Given the description of an element on the screen output the (x, y) to click on. 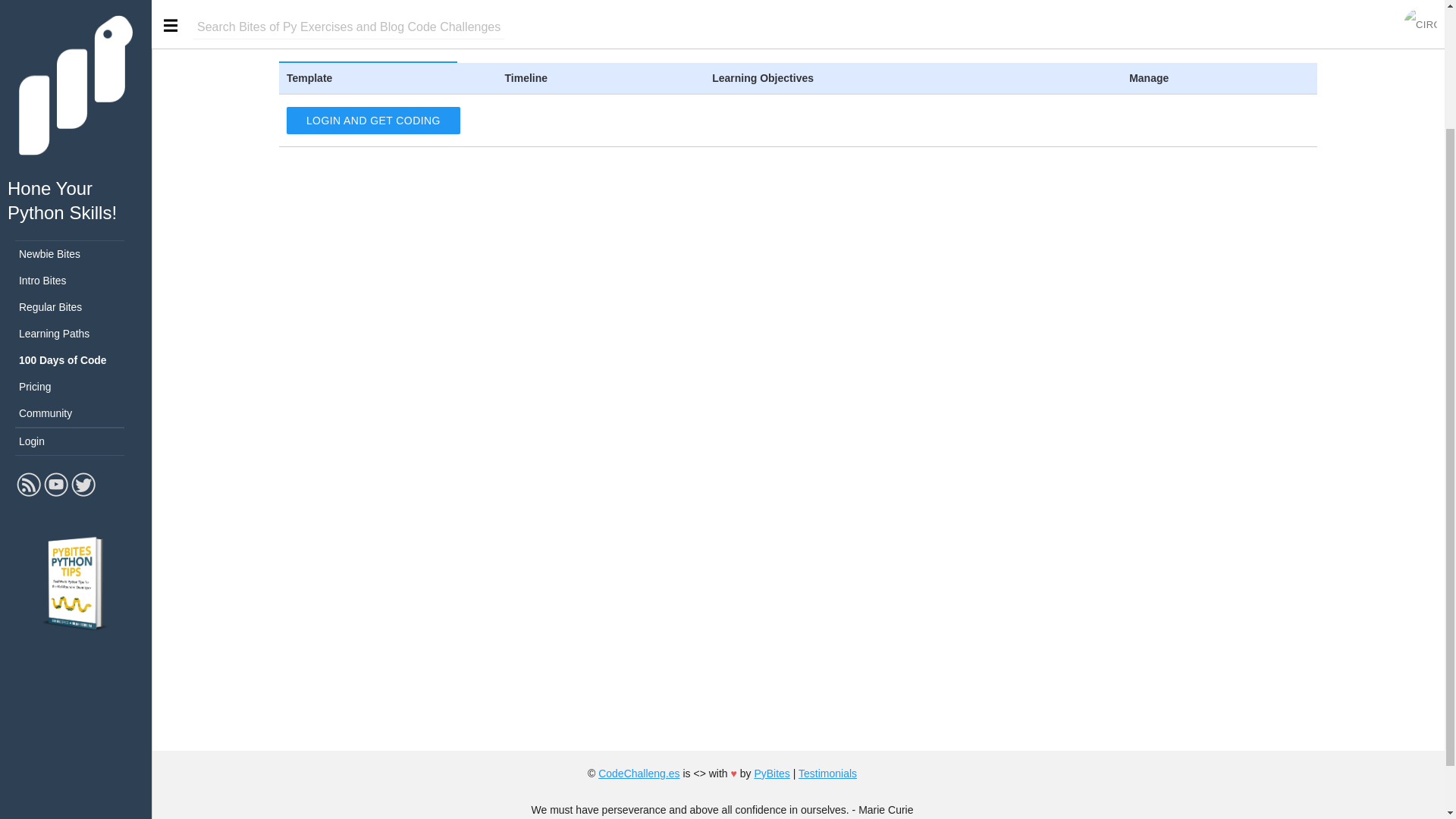
Follow us on Twitter ... (83, 343)
100 Days of Code (75, 208)
Regular Bites (75, 155)
Learning Paths (75, 181)
Login (75, 289)
YOUR 100 DAYS PROJECTS (368, 43)
LOGIN AND GET CODING (373, 120)
Community (75, 261)
Read our blog articles (28, 343)
Pricing (75, 234)
100 DAYS TEMPLATES (535, 43)
Intro Bites (75, 129)
PyBites Platform homepage (75, 4)
Newbie Bites (75, 102)
PYBITES MATERIALS (861, 43)
